Given the description of an element on the screen output the (x, y) to click on. 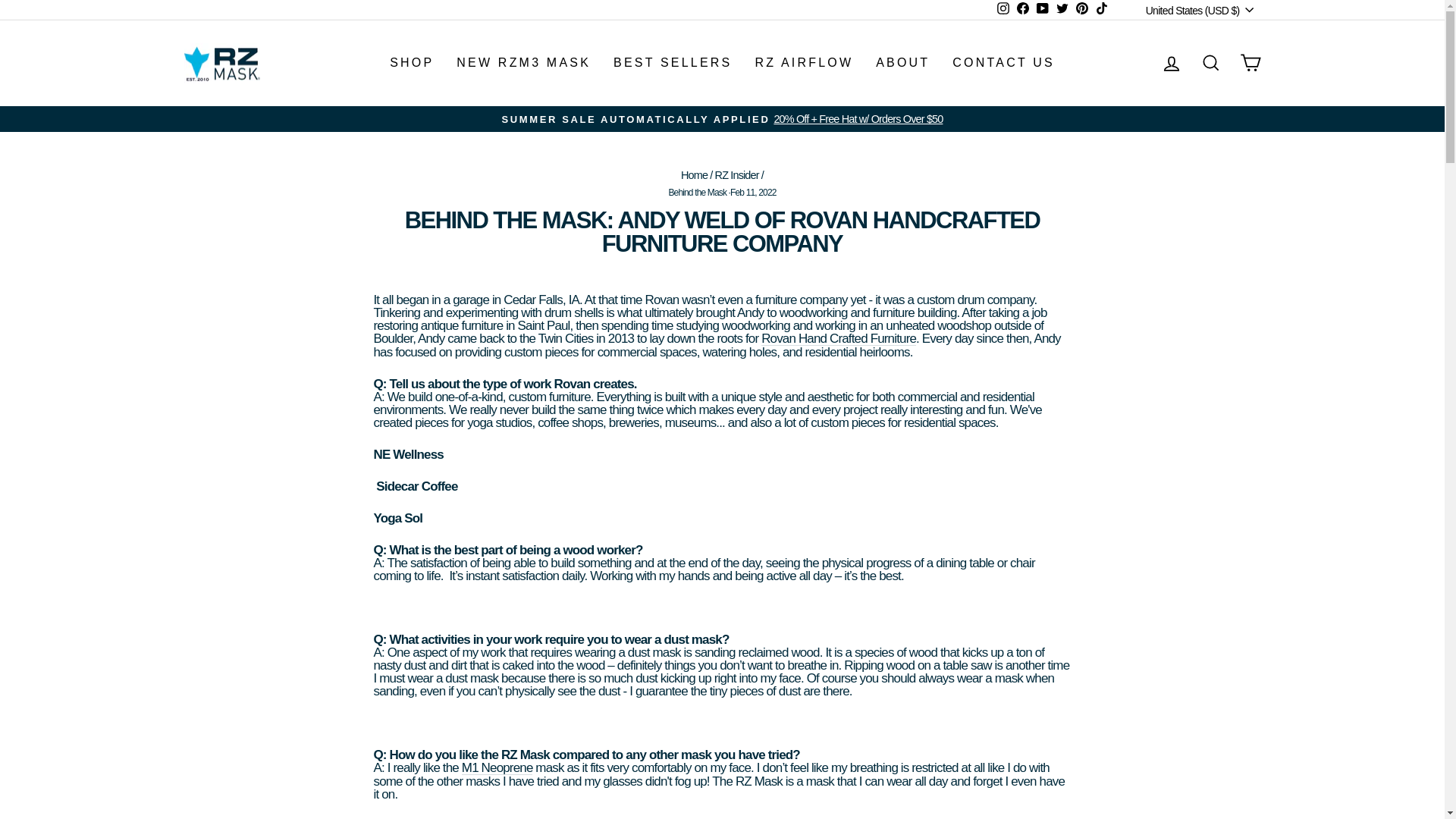
Back to the frontpage (694, 174)
RZ Mask on TikTok (1102, 9)
RZ Mask on Twitter (1061, 9)
RZ Mask on Instagram (1002, 9)
RZ Mask on YouTube (1042, 9)
RZ Mask on Pinterest (1081, 9)
RZ Mask on Facebook (1022, 9)
